Given the description of an element on the screen output the (x, y) to click on. 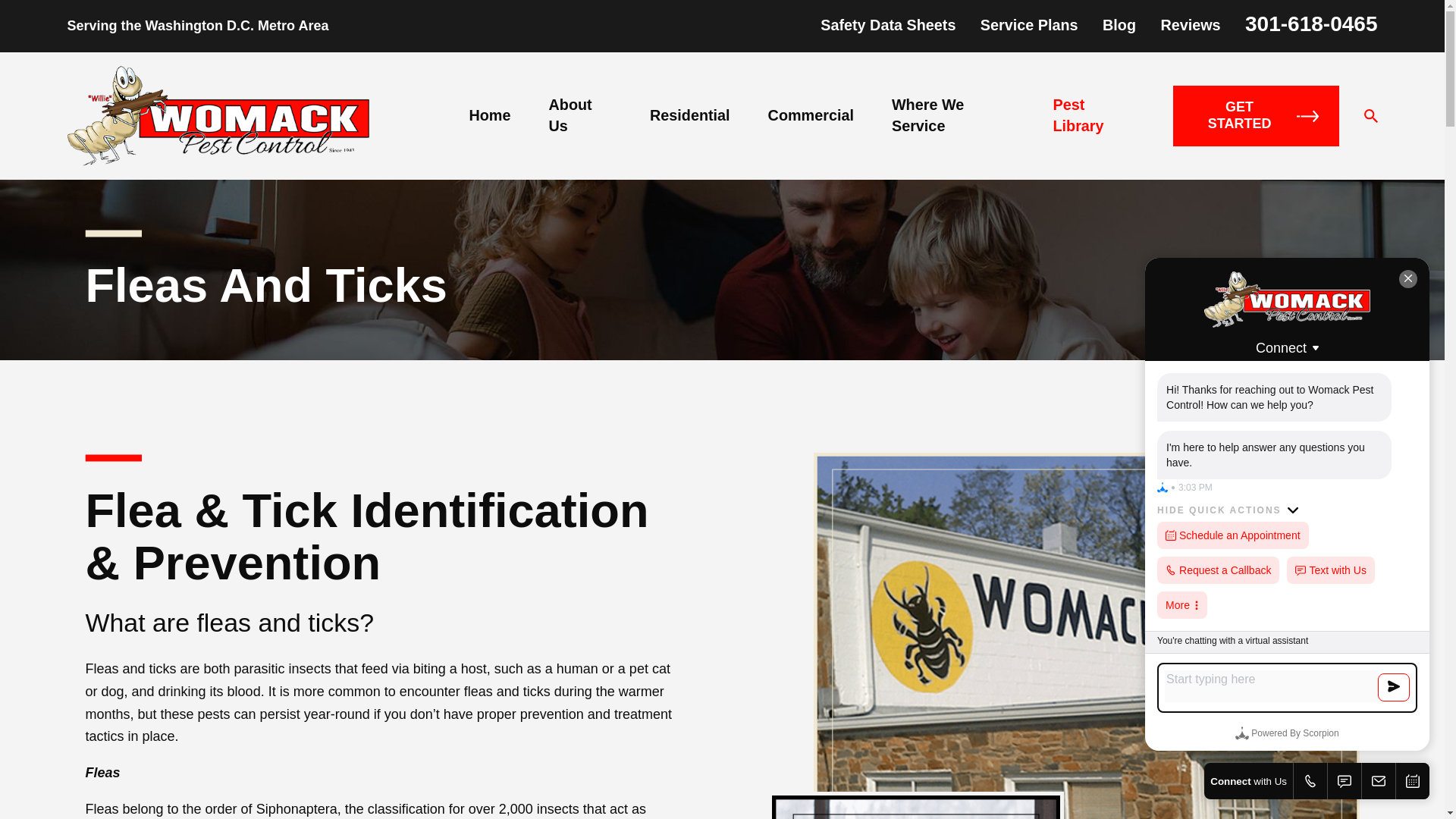
Blog (1118, 24)
Commercial (810, 115)
Safety Data Sheets (888, 24)
Service Plans (1028, 24)
About Us (579, 115)
Where We Service (952, 115)
Residential (689, 115)
Reviews (1190, 24)
Pest Library (1093, 115)
Home (217, 116)
301-618-0465 (1310, 24)
